Given the description of an element on the screen output the (x, y) to click on. 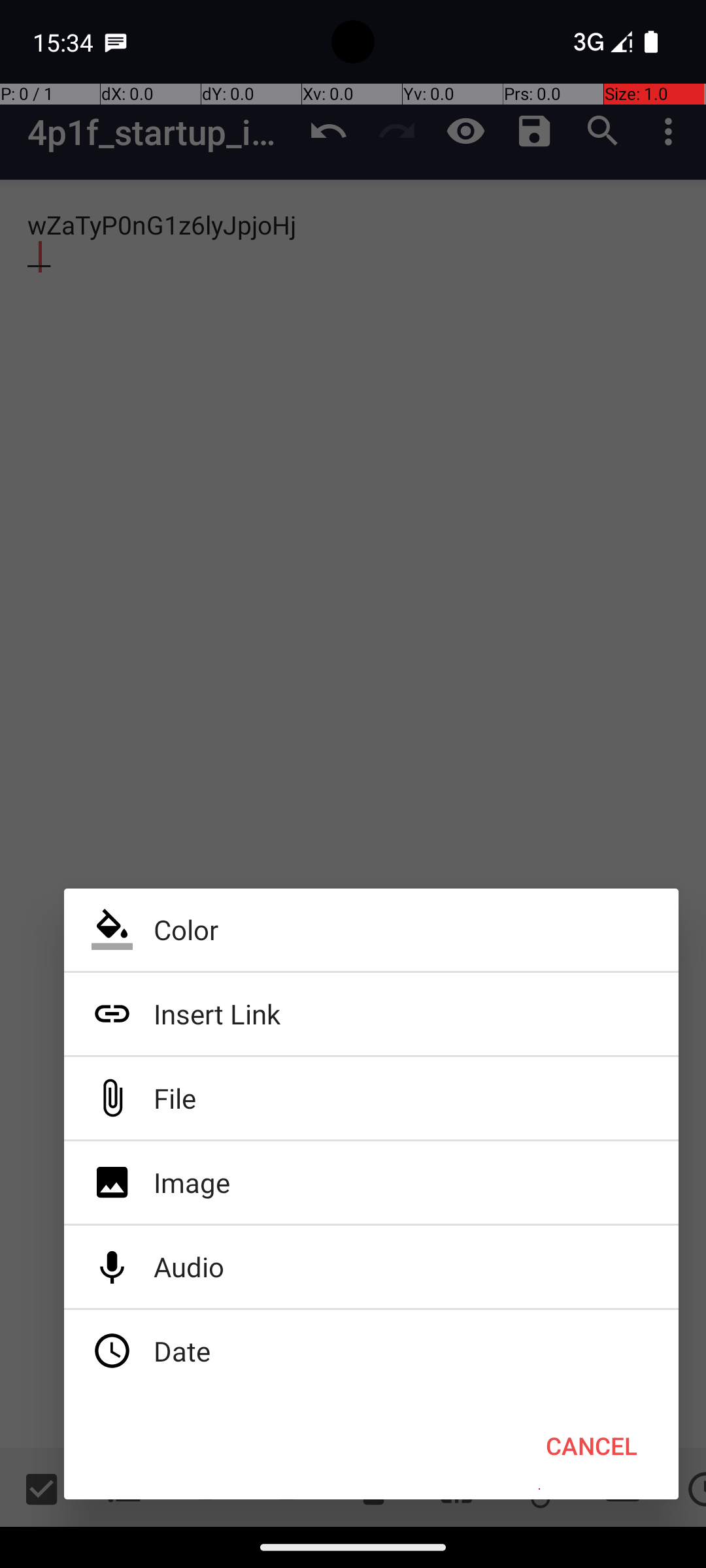
Color Element type: android.widget.TextView (371, 929)
Insert Link Element type: android.widget.TextView (371, 1013)
File Element type: android.widget.TextView (371, 1098)
Image Element type: android.widget.TextView (371, 1182)
